Given the description of an element on the screen output the (x, y) to click on. 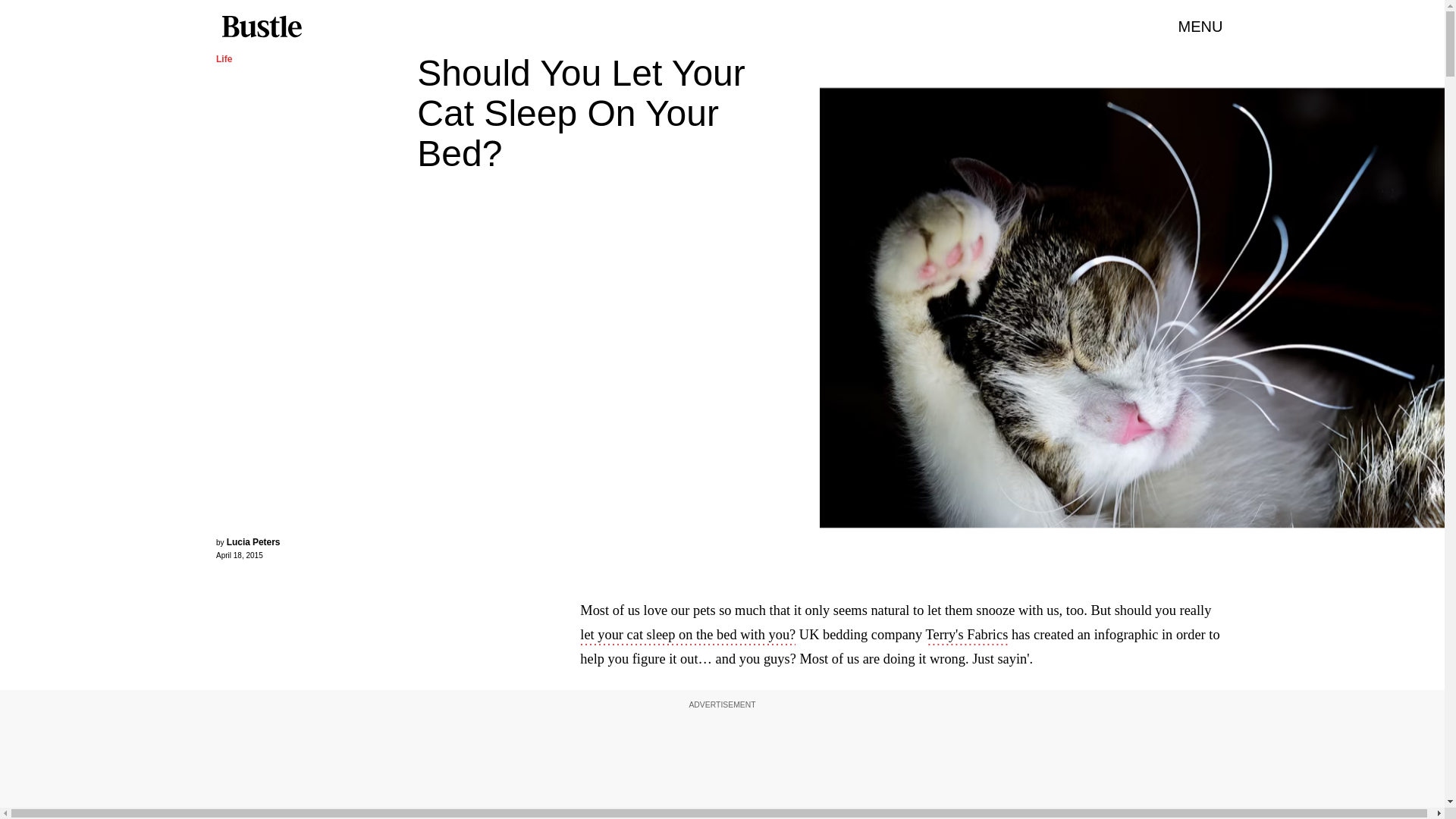
Bustle (261, 26)
Lucia Peters (254, 542)
Terry's Fabrics (967, 636)
let your cat sleep on the bed with you? (686, 636)
